Given the description of an element on the screen output the (x, y) to click on. 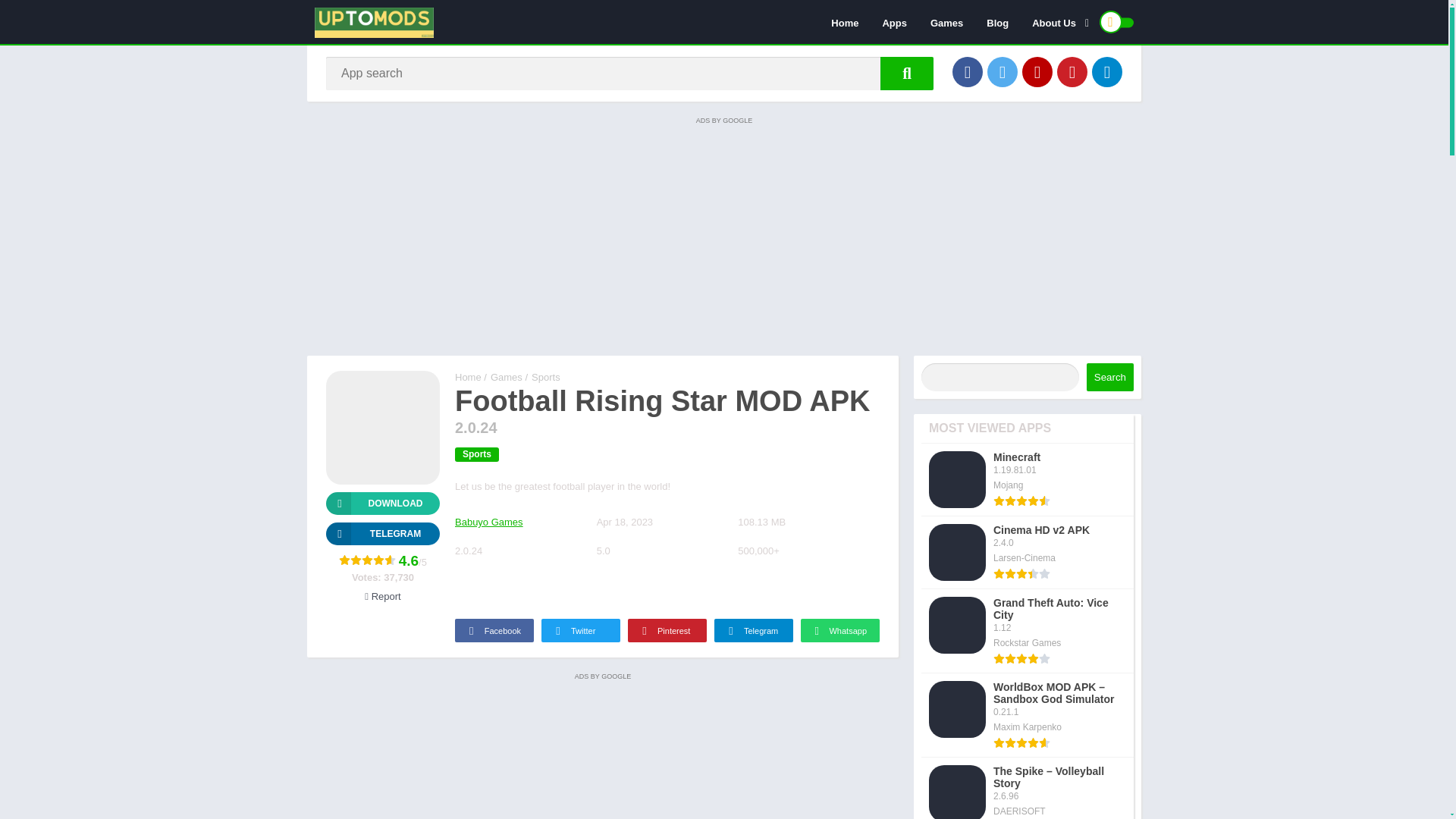
Games (946, 22)
App search (906, 73)
Twitter (1002, 71)
Telegram (753, 630)
Home (844, 22)
Sports (545, 377)
TELEGRAM (382, 533)
Blog (997, 22)
Facebook (494, 630)
Telegram (1107, 71)
